Given the description of an element on the screen output the (x, y) to click on. 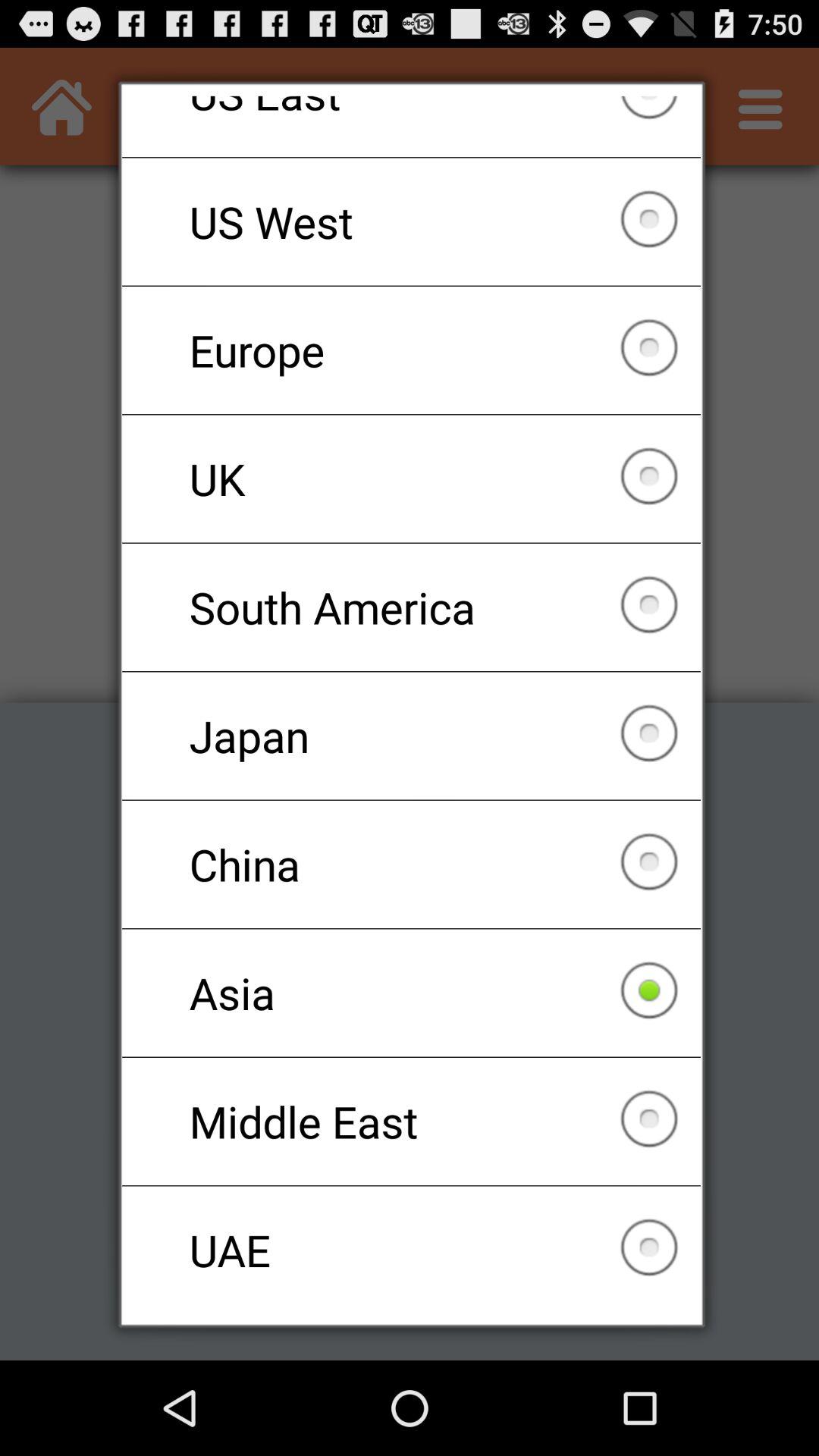
launch the     south america item (411, 607)
